Given the description of an element on the screen output the (x, y) to click on. 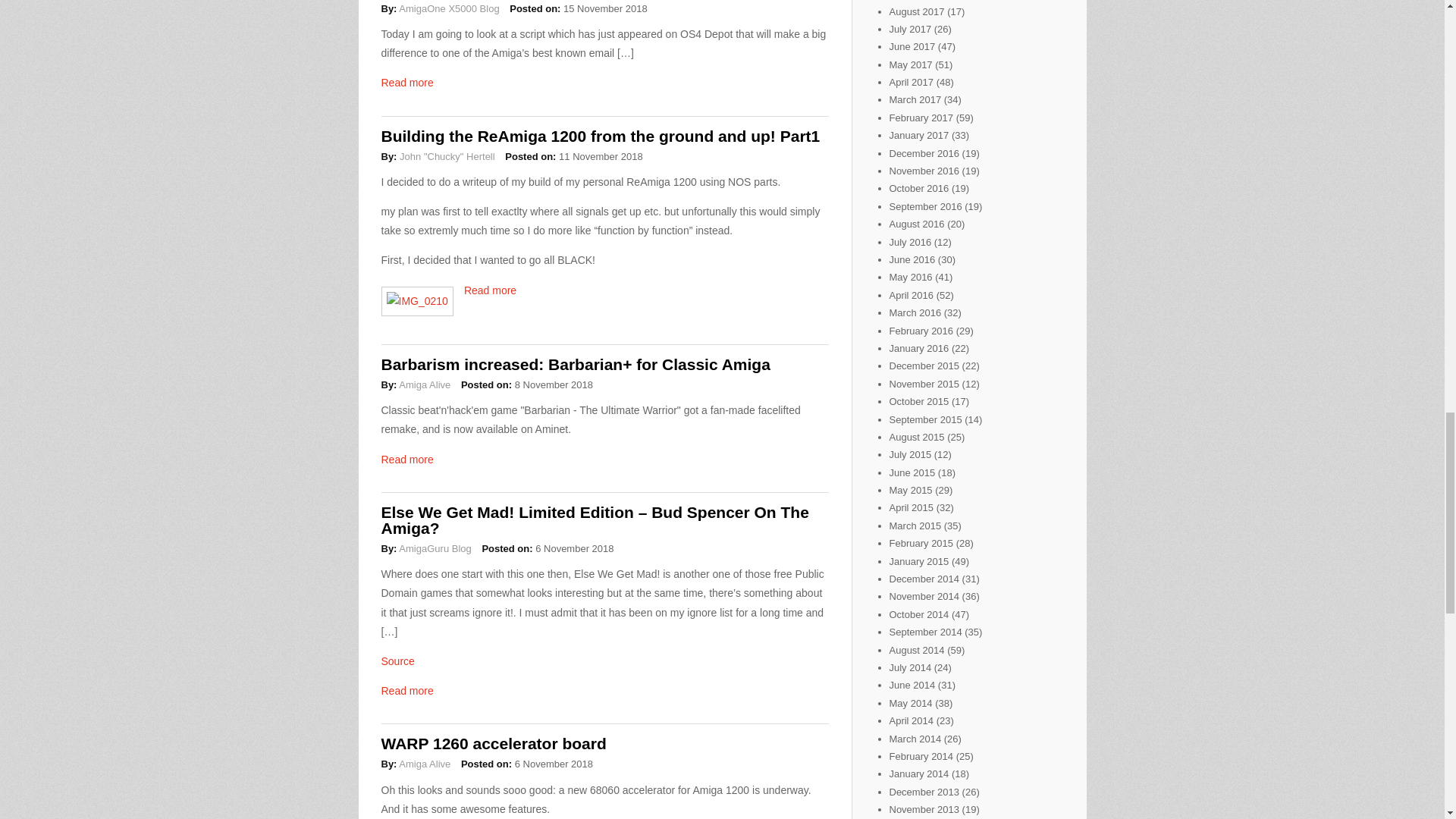
AmigaOne X5000 Blog (448, 8)
Read more (406, 82)
Building the ReAmiga 1200 from the ground and up! Part1 (599, 135)
